Given the description of an element on the screen output the (x, y) to click on. 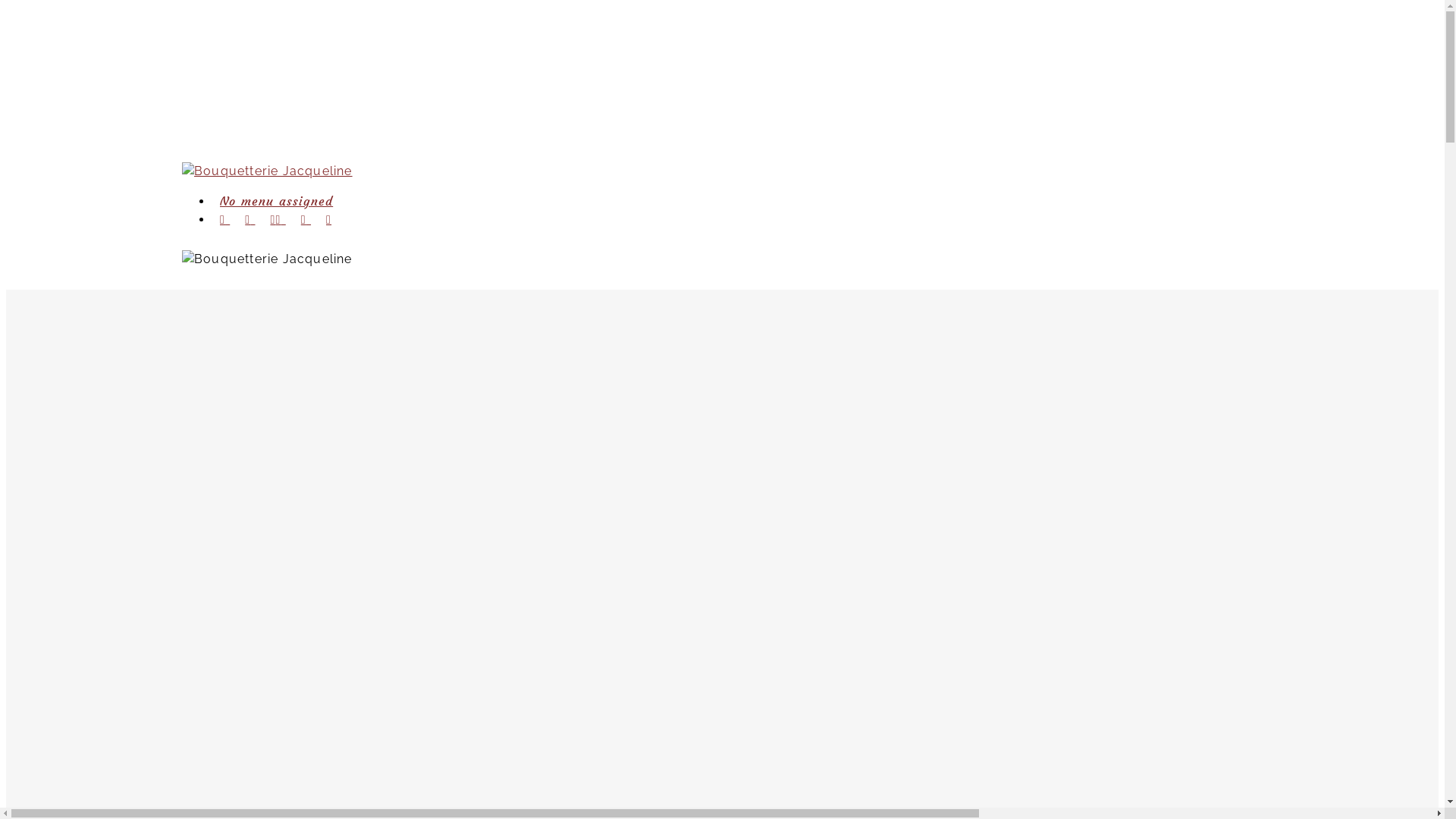
No menu assigned Element type: text (276, 200)
